Given the description of an element on the screen output the (x, y) to click on. 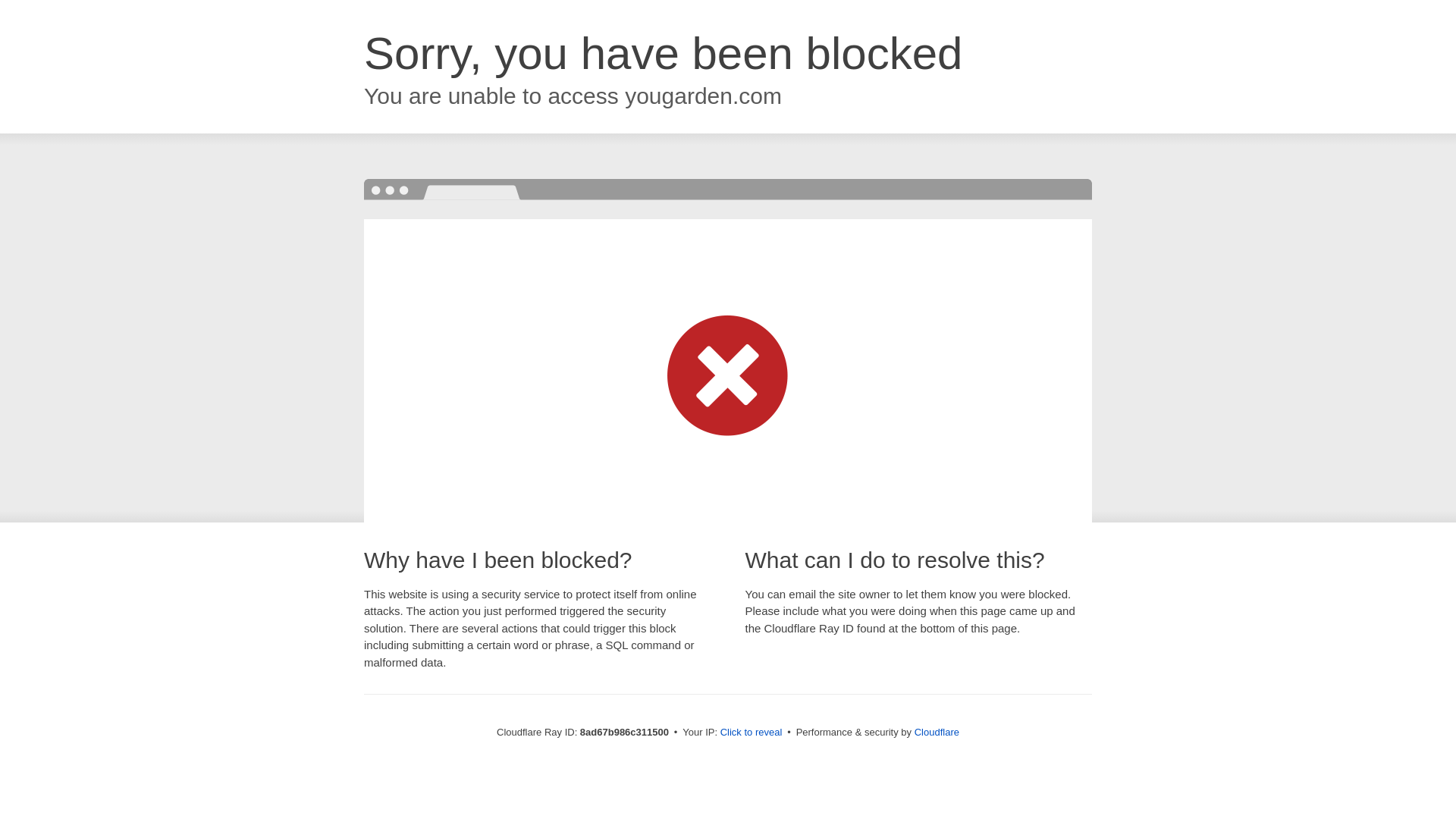
Click to reveal (751, 732)
Cloudflare (936, 731)
